Given the description of an element on the screen output the (x, y) to click on. 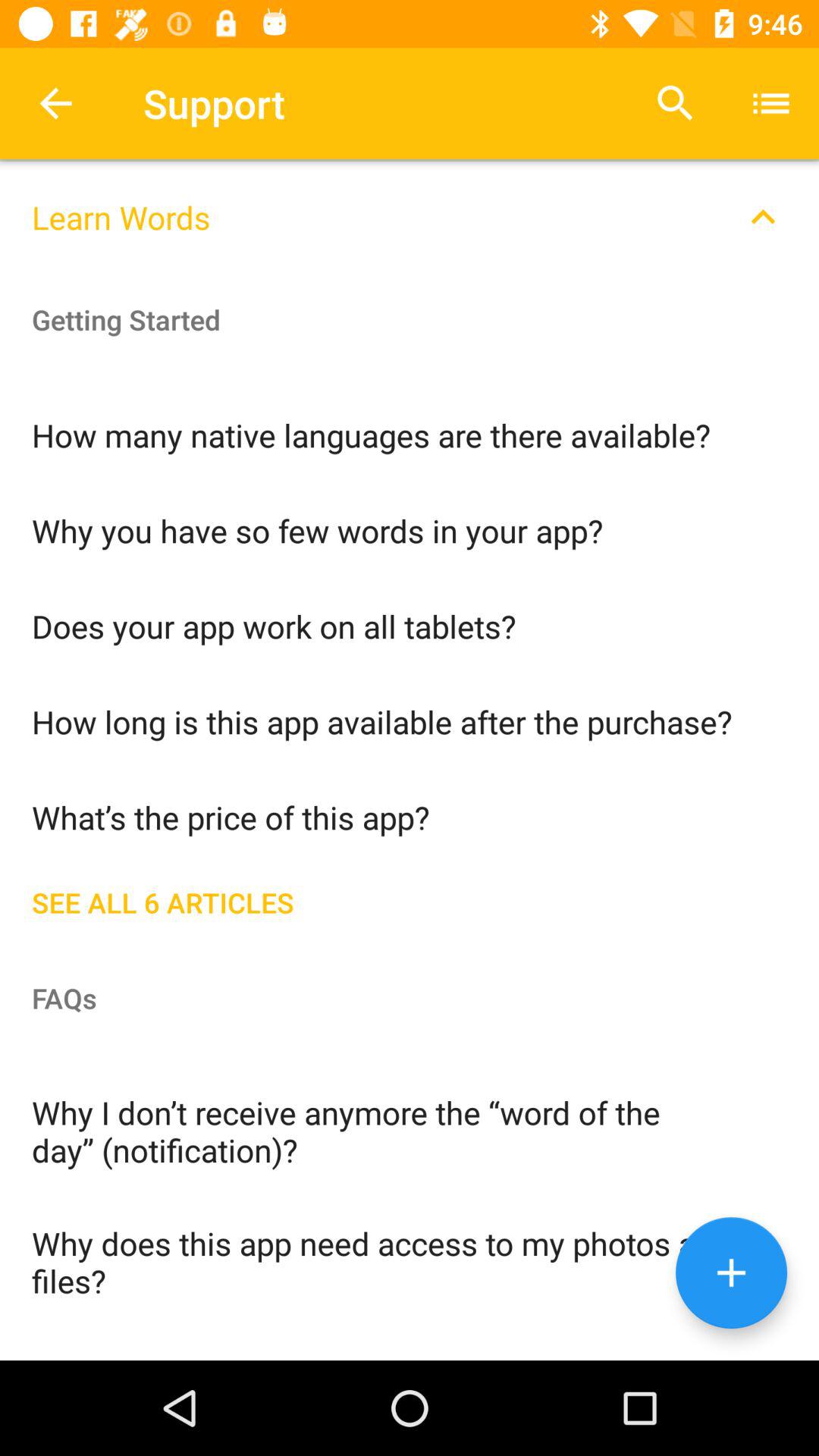
choose icon above the faqs icon (409, 899)
